Given the description of an element on the screen output the (x, y) to click on. 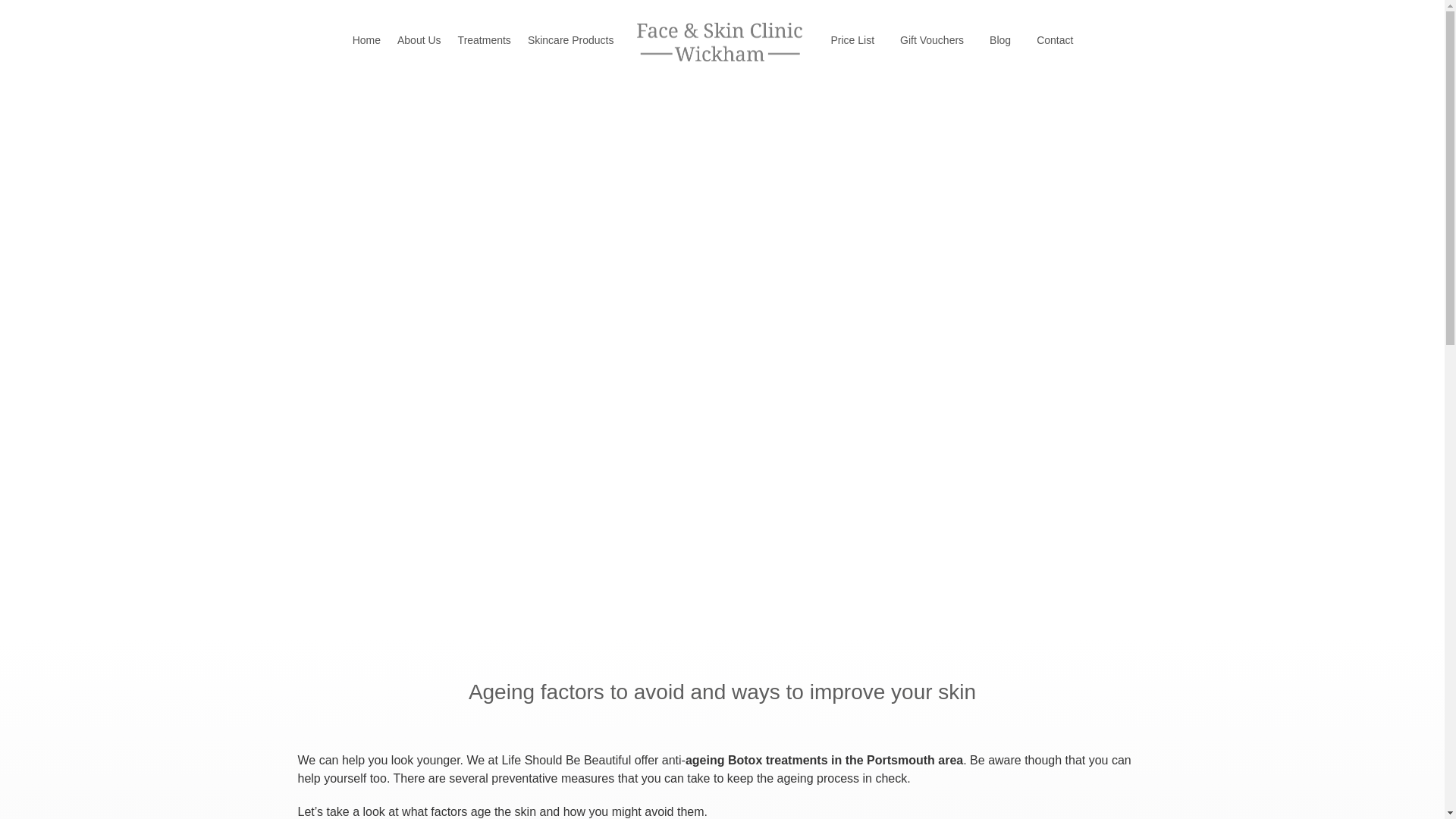
Treatments (484, 39)
Home (365, 39)
About Us (418, 39)
Skincare Products (571, 39)
